Given the description of an element on the screen output the (x, y) to click on. 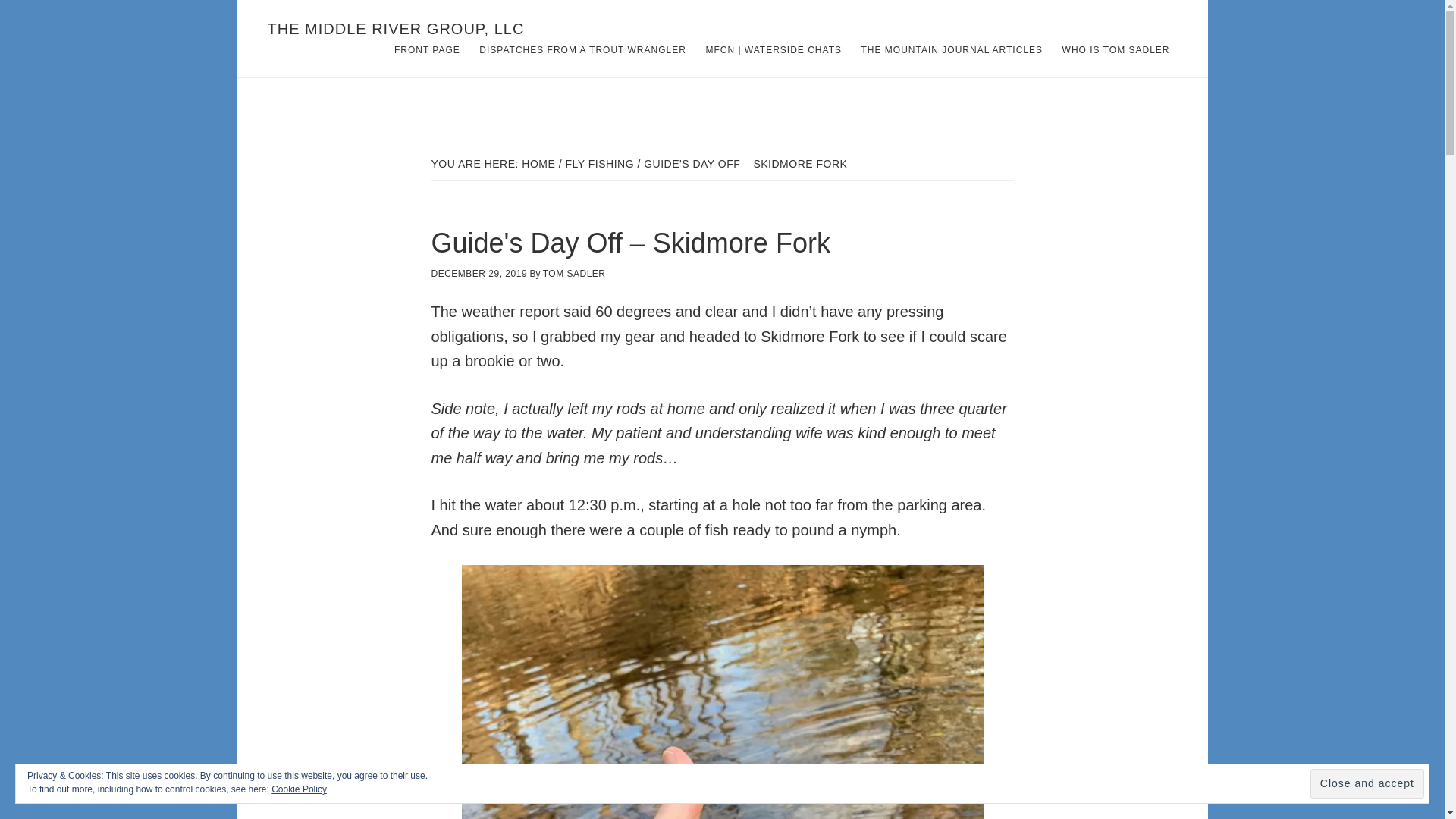
HOME (537, 163)
TOM SADLER (574, 273)
FRONT PAGE (427, 49)
Close and accept (1366, 783)
Close and accept (1366, 783)
FLY FISHING (598, 163)
WHO IS TOM SADLER (1115, 49)
Cookie Policy (298, 788)
THE MOUNTAIN JOURNAL ARTICLES (951, 49)
THE MIDDLE RIVER GROUP, LLC (395, 28)
DISPATCHES FROM A TROUT WRANGLER (582, 49)
